Given the description of an element on the screen output the (x, y) to click on. 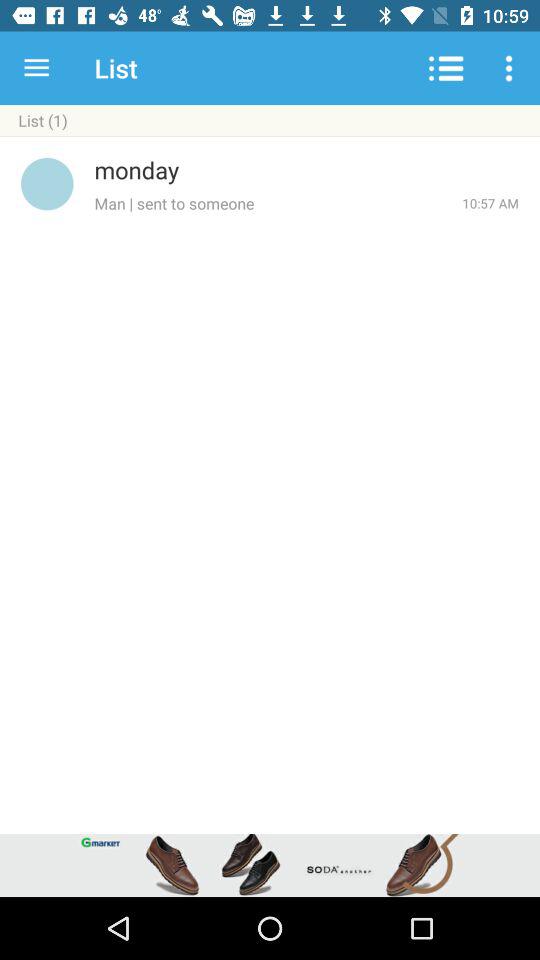
launch list (1) icon (270, 120)
